Given the description of an element on the screen output the (x, y) to click on. 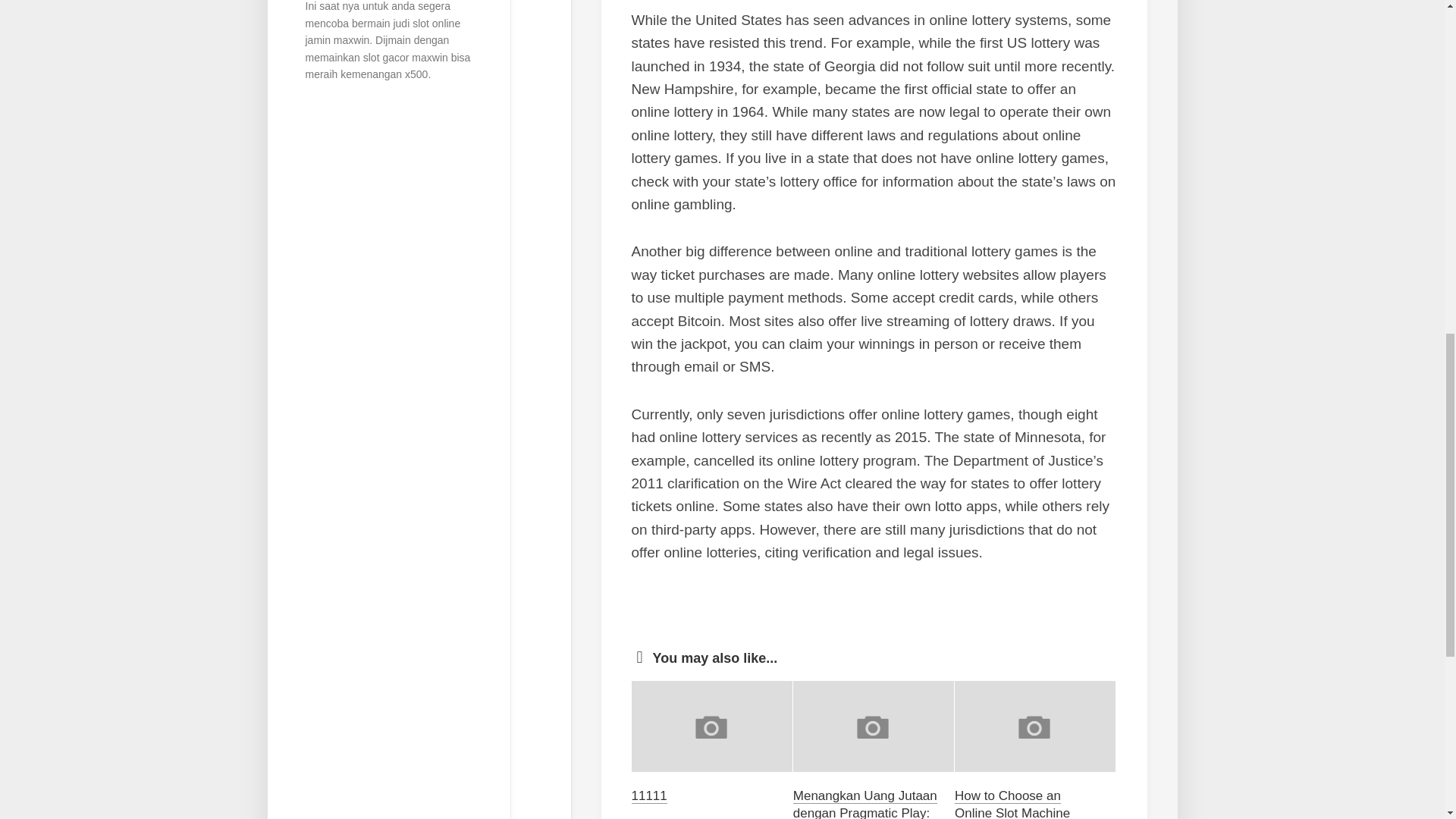
11111 (648, 795)
How to Choose an Online Slot Machine (1012, 803)
judi slot online (426, 23)
